Given the description of an element on the screen output the (x, y) to click on. 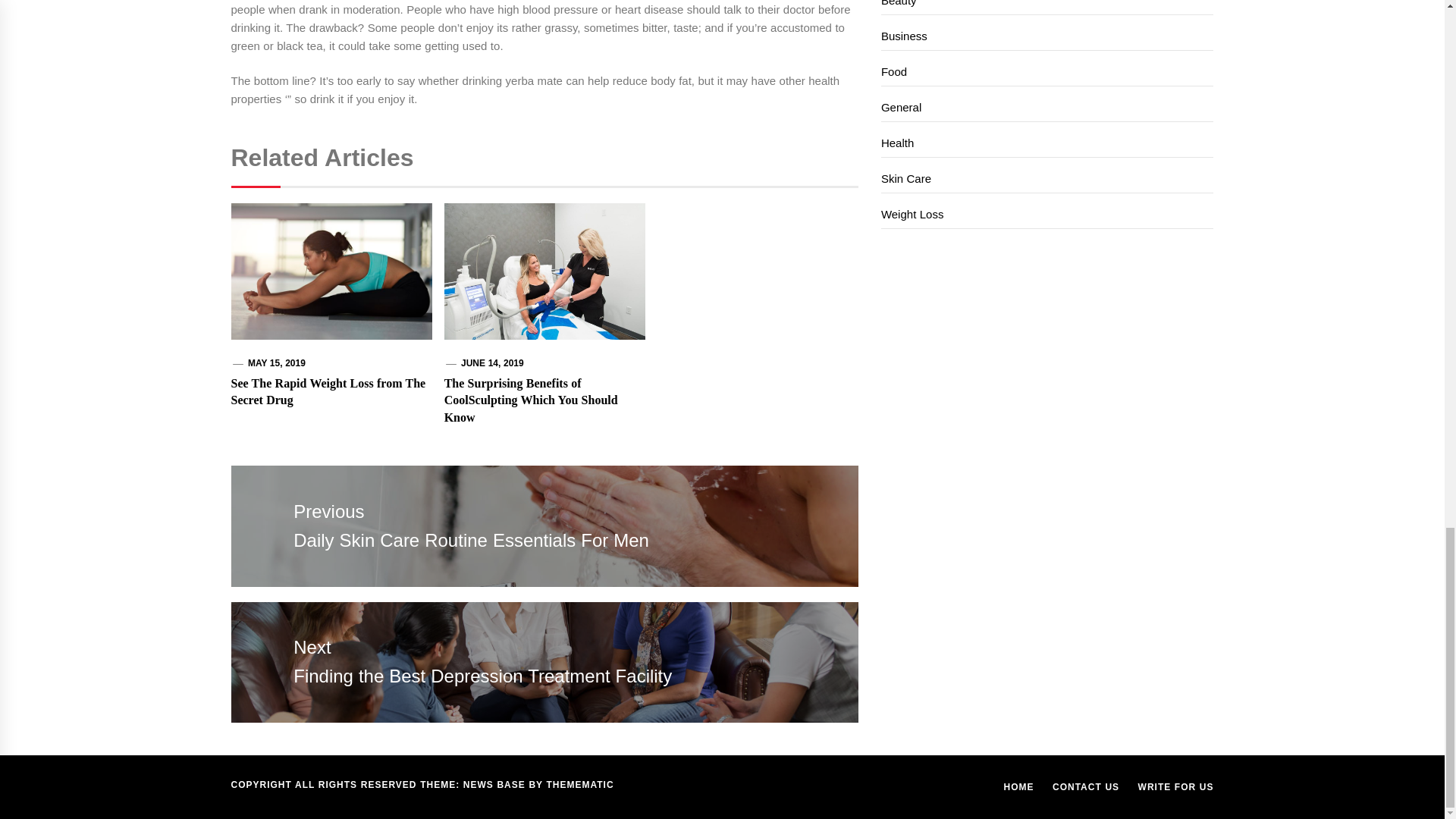
JUNE 14, 2019 (492, 362)
See The Rapid Weight Loss from The Secret Drug (327, 391)
MAY 15, 2019 (276, 362)
Beauty (1047, 7)
